Given the description of an element on the screen output the (x, y) to click on. 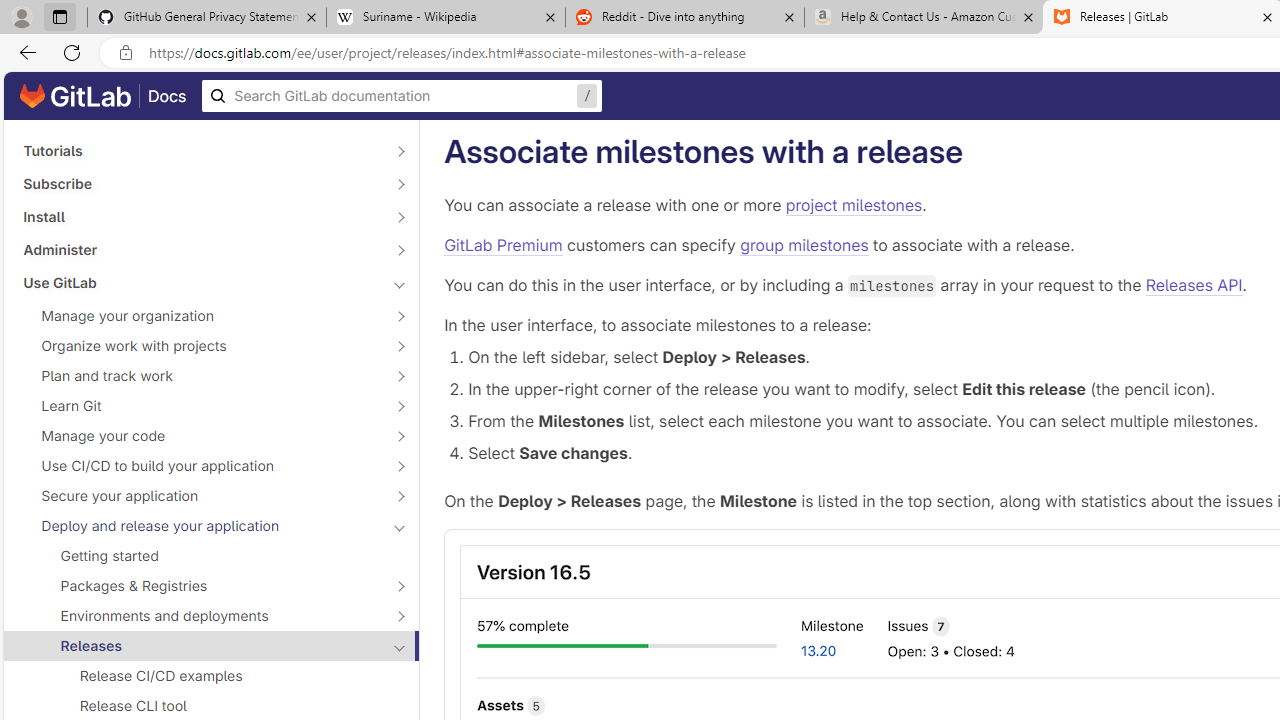
Install (199, 216)
Tutorials (199, 151)
Administer (199, 249)
Plan and track work (199, 375)
Manage your code (199, 435)
Releases (199, 645)
Permalink (982, 152)
/ (402, 95)
Use GitLab (199, 282)
Learn Git (199, 405)
Releases API (1193, 284)
GitHub General Privacy Statement - GitHub Docs (207, 17)
Release CI/CD examples (211, 675)
